Given the description of an element on the screen output the (x, y) to click on. 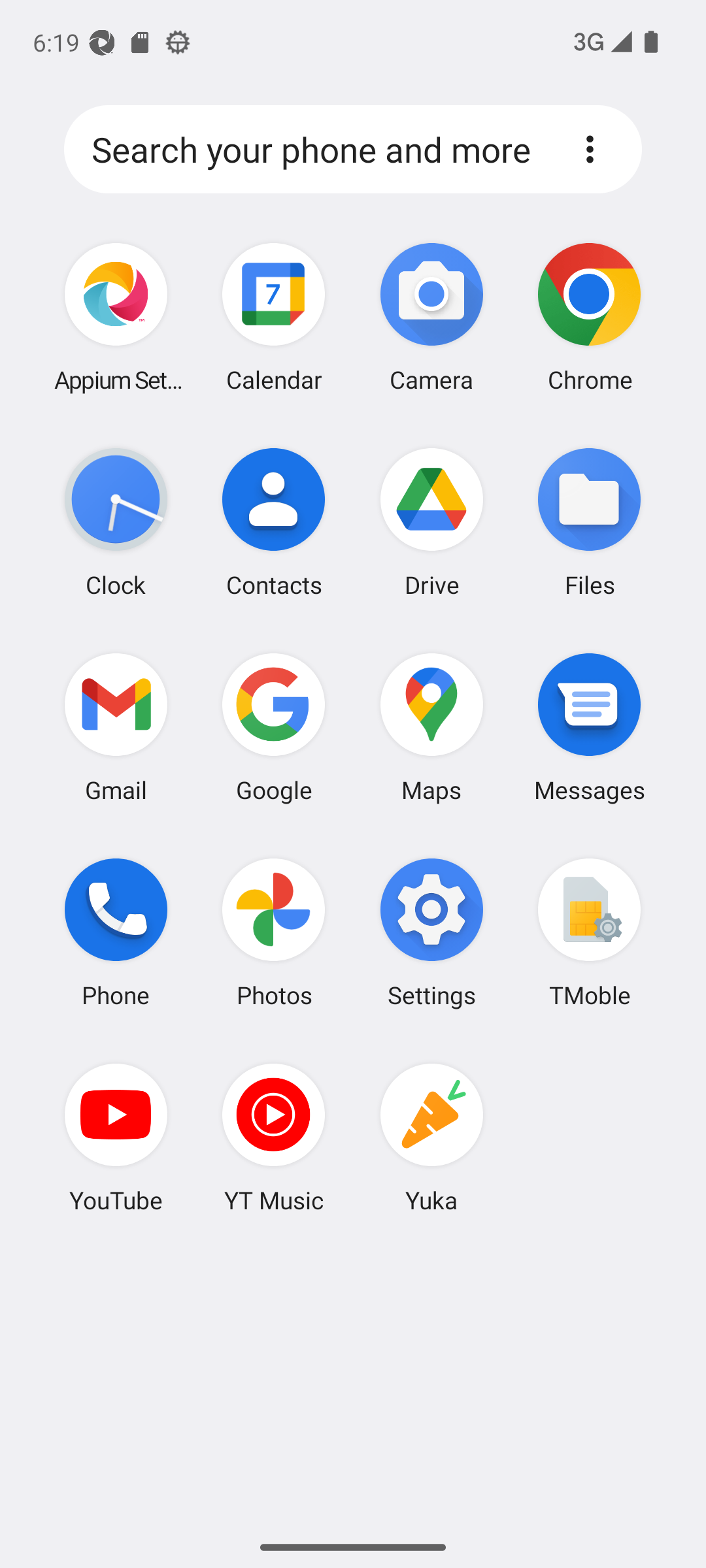
Search your phone and more (318, 149)
Preferences (589, 149)
Appium Settings (115, 317)
Calendar (273, 317)
Camera (431, 317)
Chrome (589, 317)
Clock (115, 522)
Contacts (273, 522)
Drive (431, 522)
Files (589, 522)
Gmail (115, 726)
Google (273, 726)
Maps (431, 726)
Messages (589, 726)
Phone (115, 931)
Photos (273, 931)
Settings (431, 931)
TMoble (589, 931)
YouTube (115, 1137)
YT Music (273, 1137)
Yuka (431, 1137)
